Given the description of an element on the screen output the (x, y) to click on. 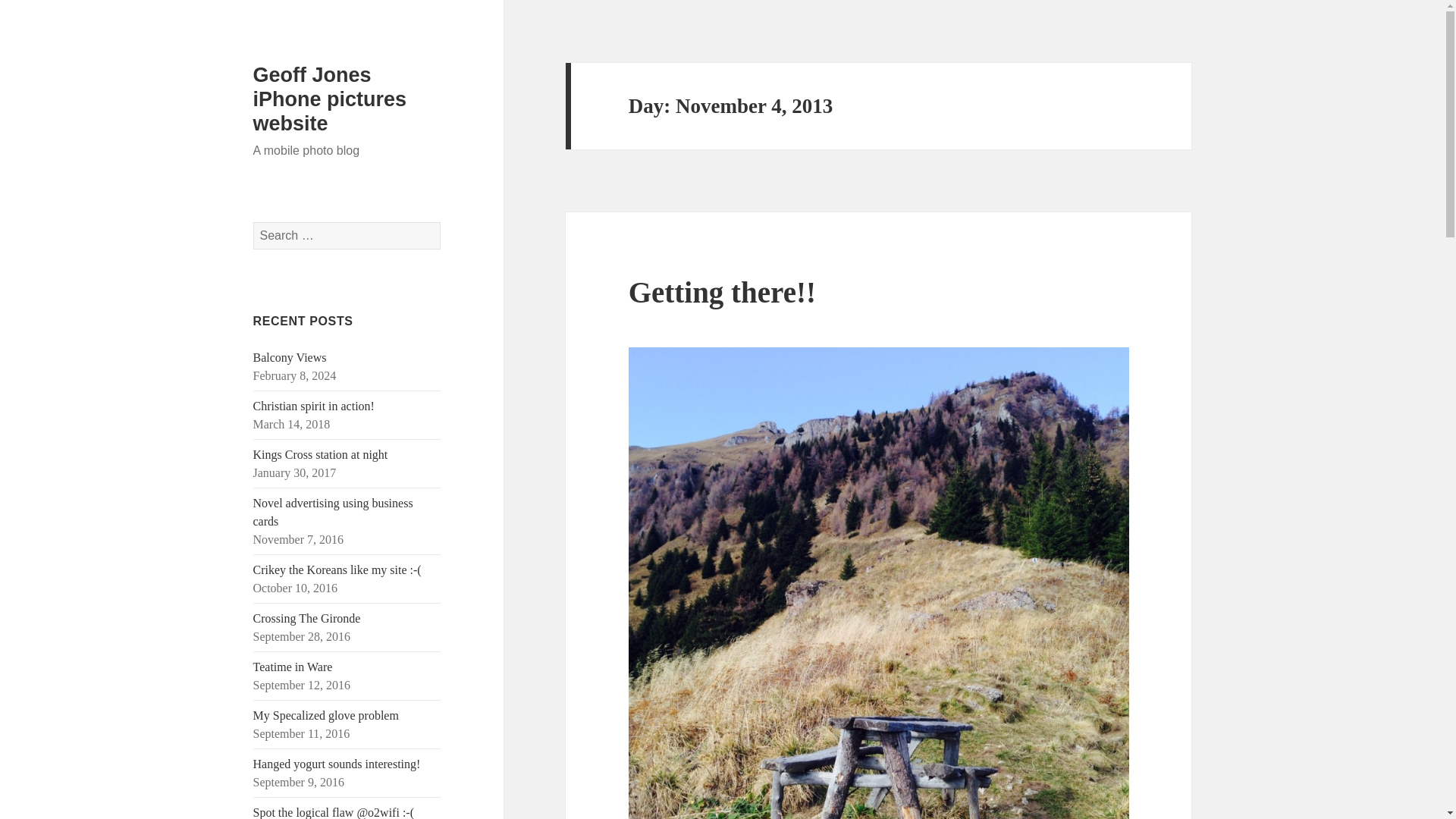
Kings Cross station at night (320, 454)
Hanged yogurt sounds interesting! (336, 763)
Novel advertising using business cards (333, 511)
Geoff Jones iPhone pictures website (330, 99)
Christian spirit in action! (313, 405)
Balcony Views (289, 357)
My Specalized glove problem (325, 715)
